Given the description of an element on the screen output the (x, y) to click on. 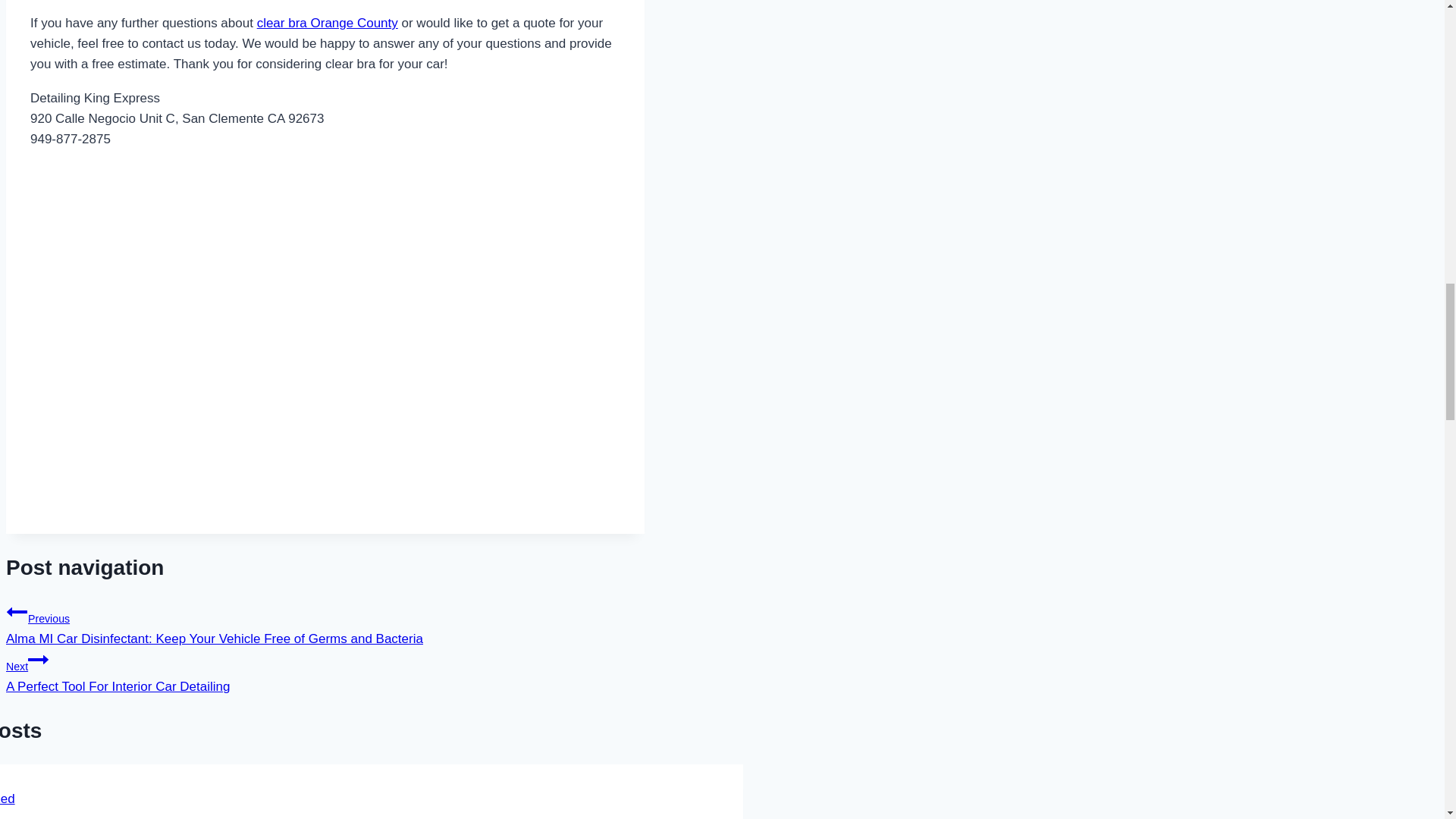
Continue (37, 659)
clear bra Orange County (327, 22)
Uncategorized (325, 671)
Previous (7, 798)
